Given the description of an element on the screen output the (x, y) to click on. 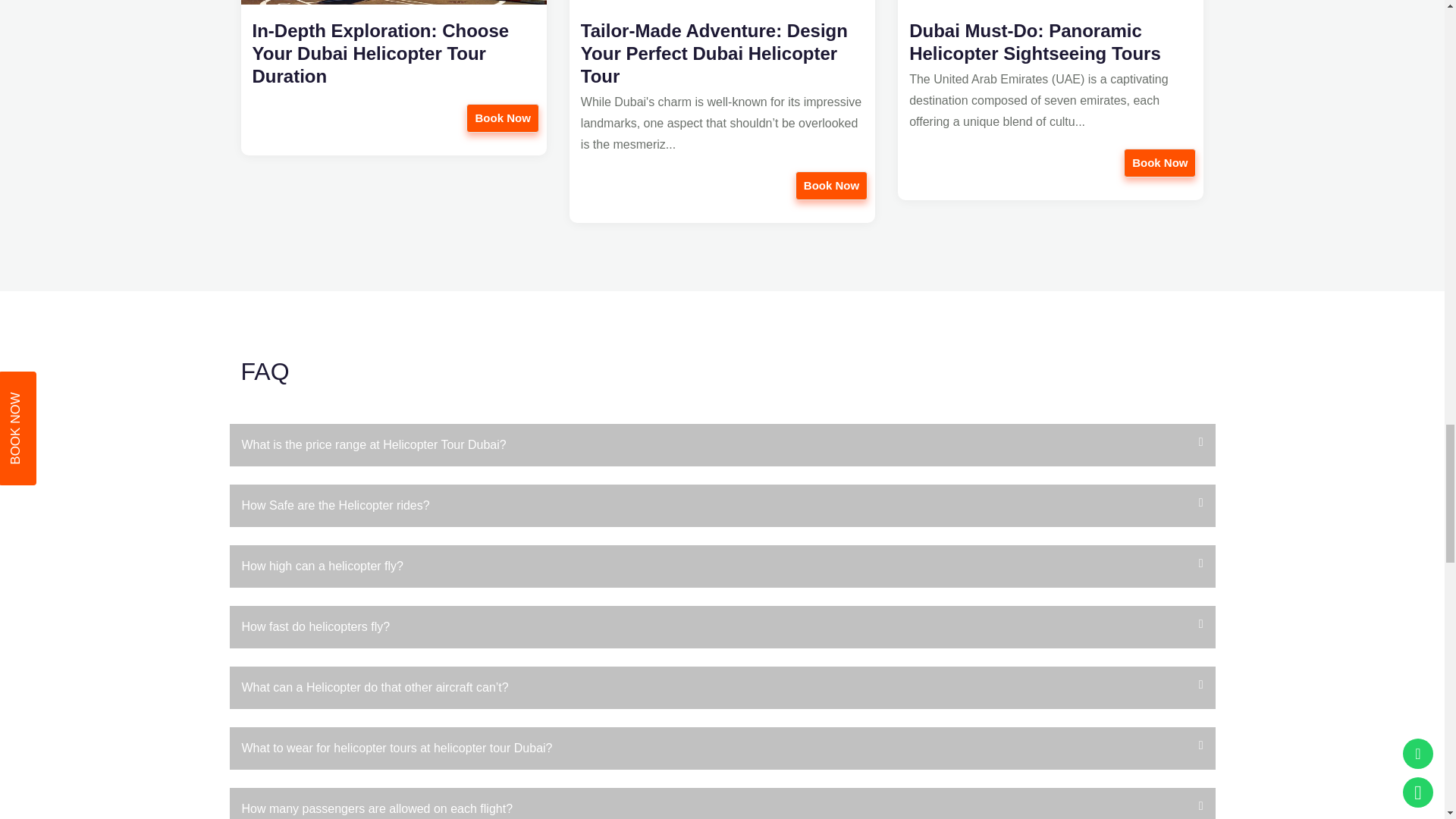
Book Now (1159, 162)
What is the price range at Helicopter Tour Dubai? (721, 445)
How many passengers are allowed on each flight? (721, 803)
What to wear for helicopter tours at helicopter tour Dubai? (721, 748)
Book Now (501, 118)
How fast do helicopters fly? (721, 627)
Dubai Must-Do: Panoramic Helicopter Sightseeing Tours (1051, 42)
How high can a helicopter fly? (721, 566)
